Given the description of an element on the screen output the (x, y) to click on. 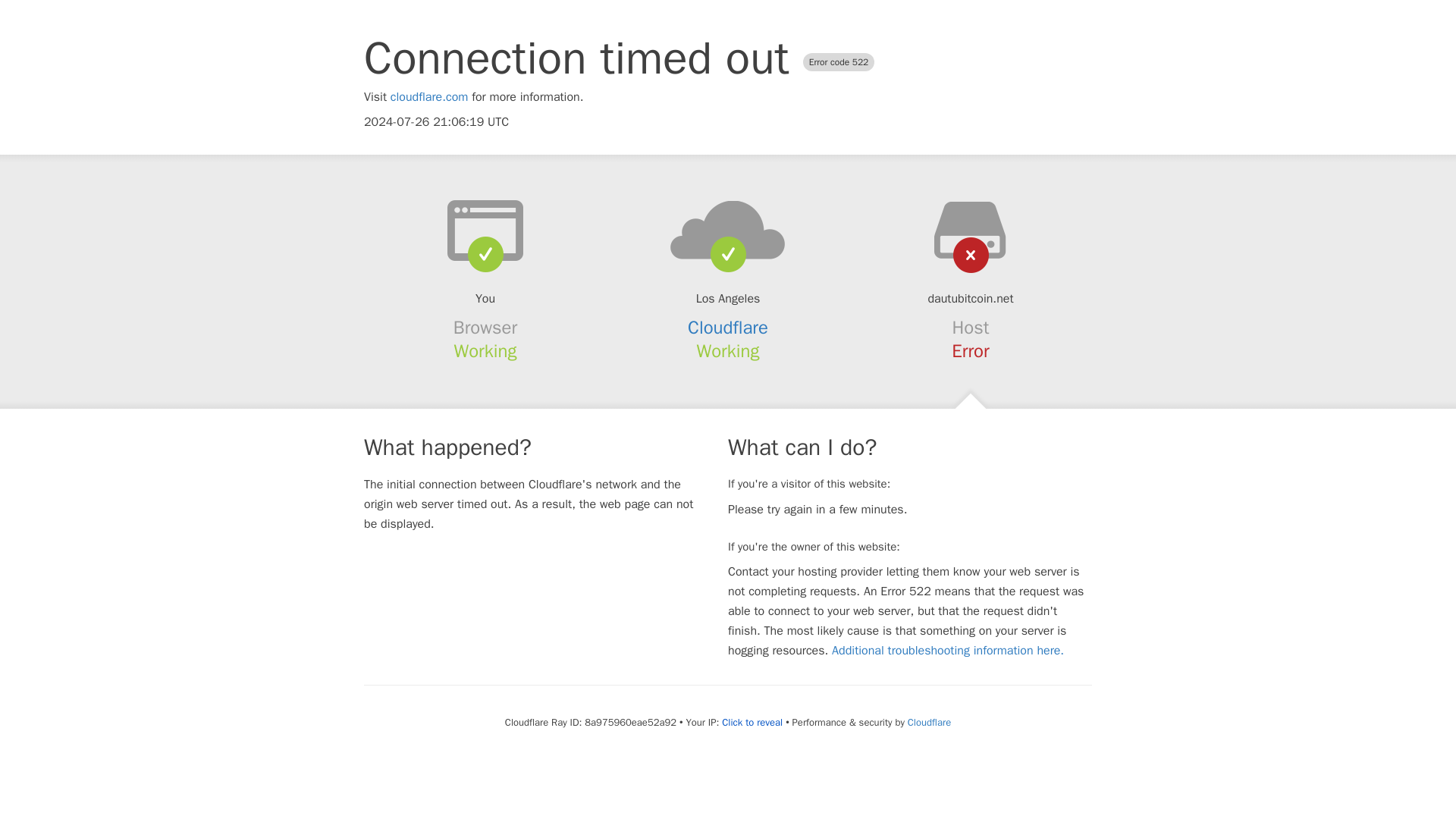
cloudflare.com (429, 96)
Cloudflare (928, 721)
Click to reveal (752, 722)
Cloudflare (727, 327)
Additional troubleshooting information here. (947, 650)
